Given the description of an element on the screen output the (x, y) to click on. 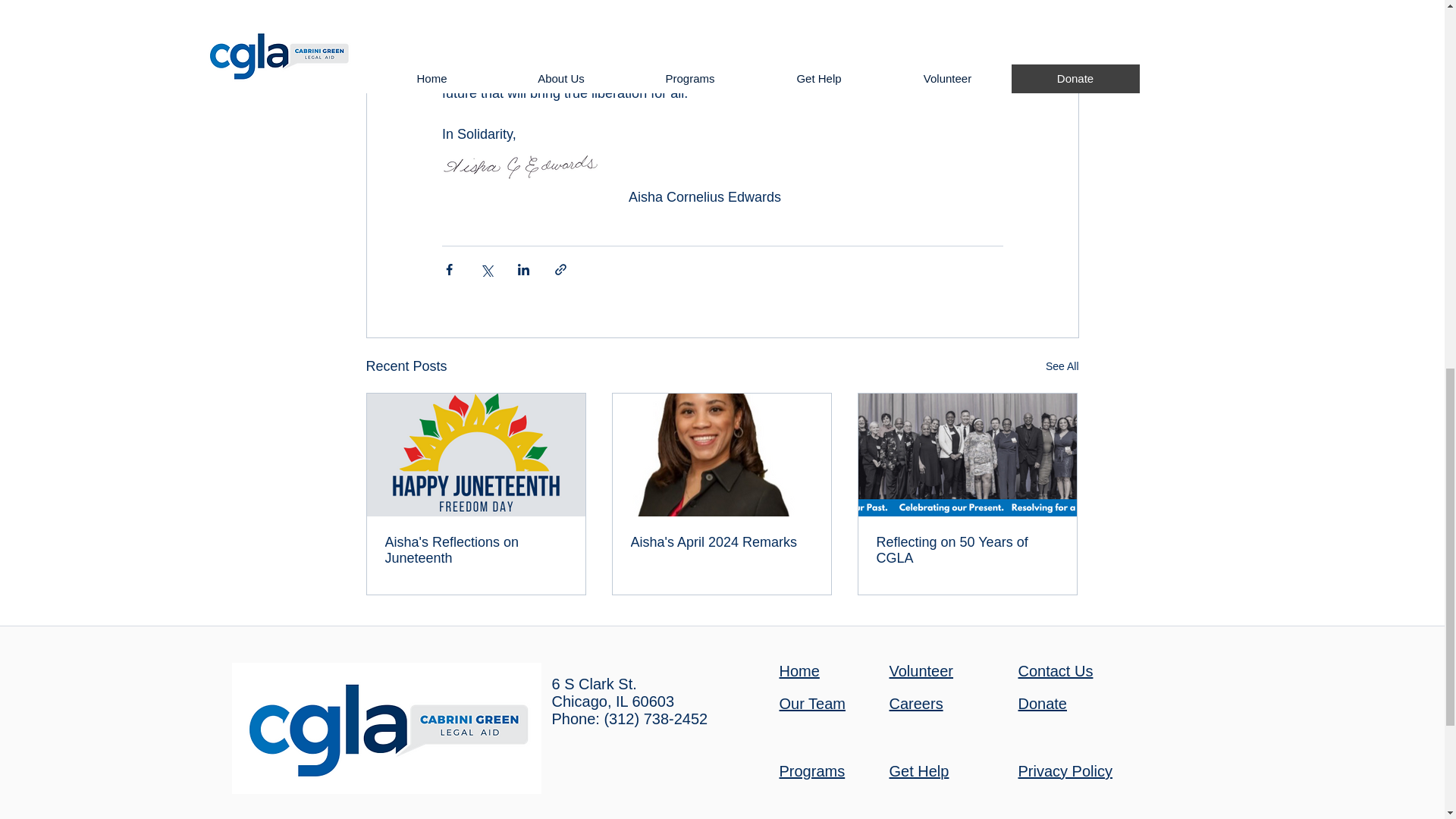
Reflecting on 50 Years of CGLA (967, 550)
Our Team (811, 703)
Careers (915, 703)
Home (798, 670)
Aisha's Reflections on Juneteenth (476, 550)
See All (1061, 366)
Aisha's April 2024 Remarks (721, 542)
Volunteer (920, 670)
Contact Us (1055, 670)
